Given the description of an element on the screen output the (x, y) to click on. 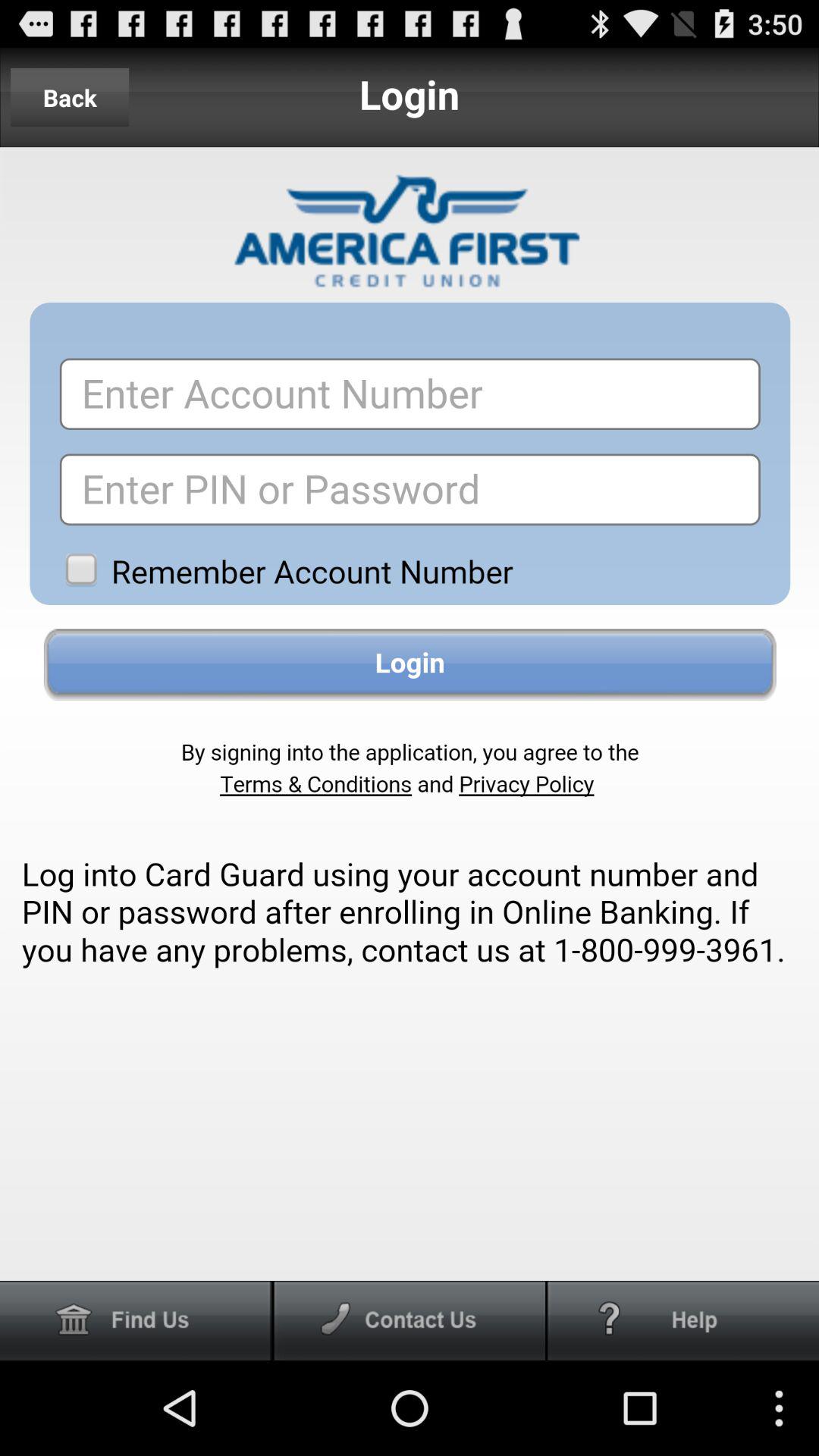
cantact (409, 1320)
